Given the description of an element on the screen output the (x, y) to click on. 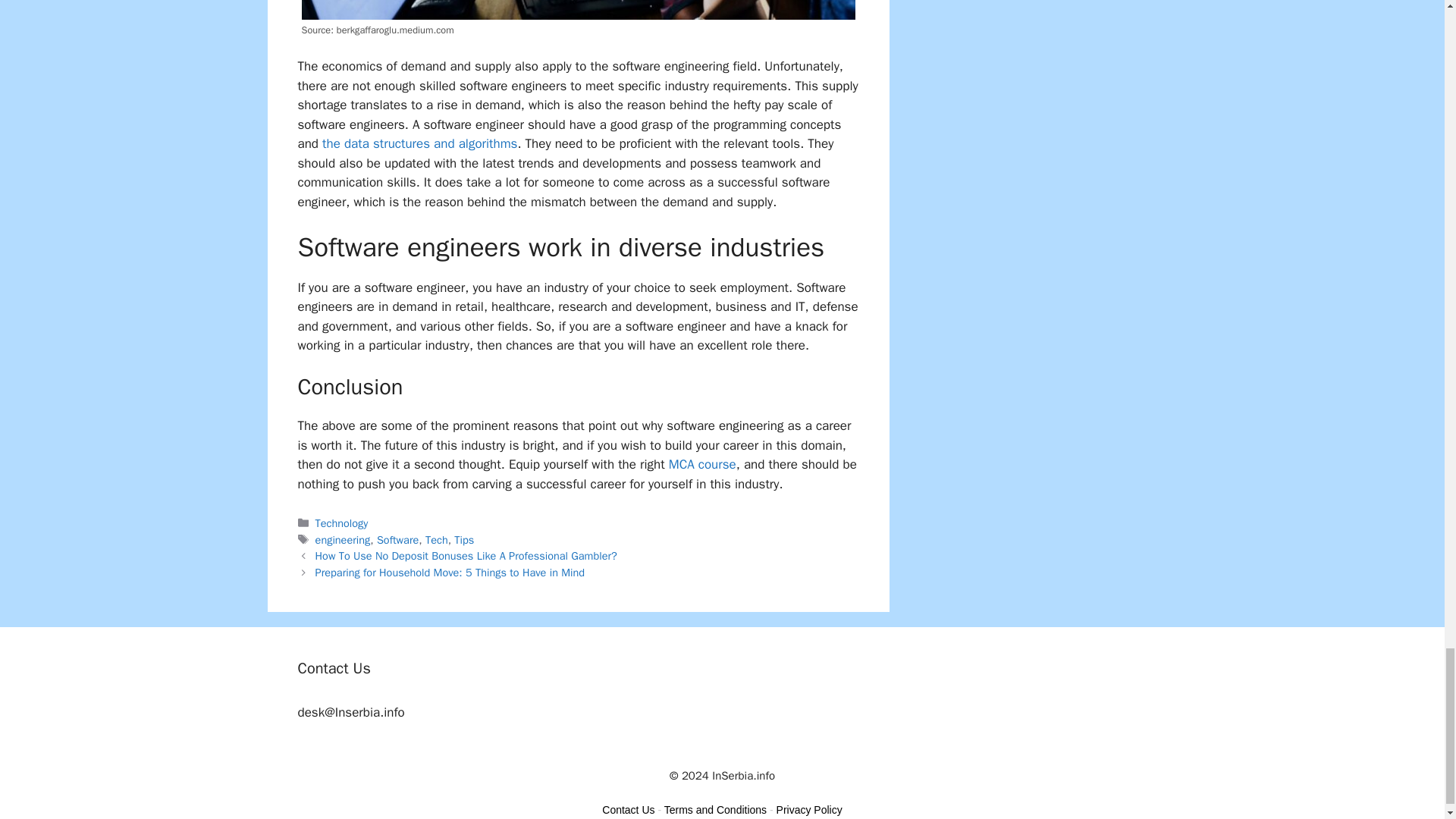
Preparing for Household Move: 5 Things to Have in Mind (450, 572)
MCA course (702, 464)
the data structures and algorithms (418, 143)
Software (398, 540)
Tech (436, 540)
engineering (343, 540)
Tips (464, 540)
Technology (341, 522)
